Given the description of an element on the screen output the (x, y) to click on. 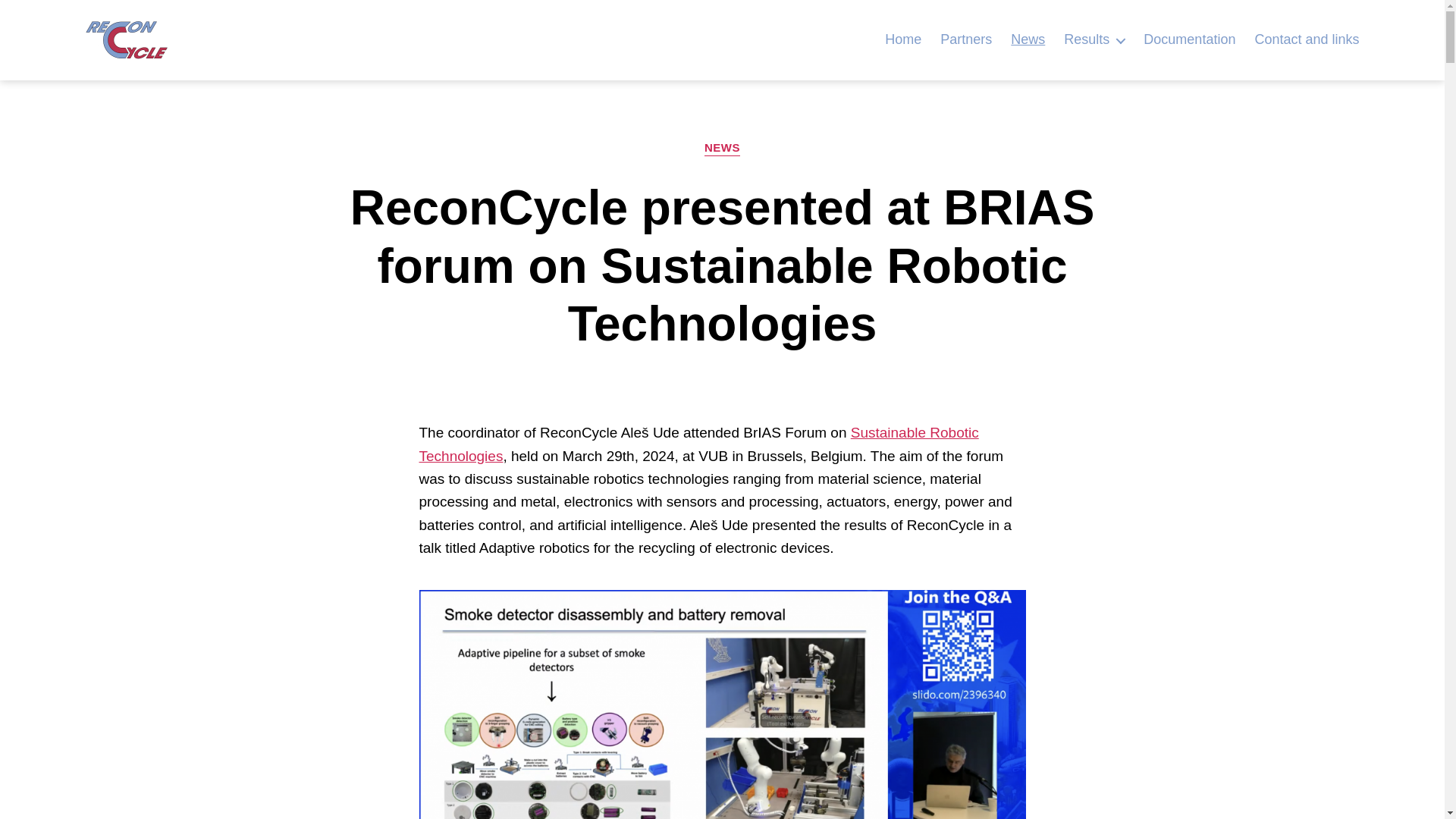
Partners (965, 39)
Contact and links (1305, 39)
News (1027, 39)
Sustainable Robotic Technologies (698, 444)
NEWS (721, 148)
Home (903, 39)
Results (1094, 39)
Documentation (1188, 39)
